Given the description of an element on the screen output the (x, y) to click on. 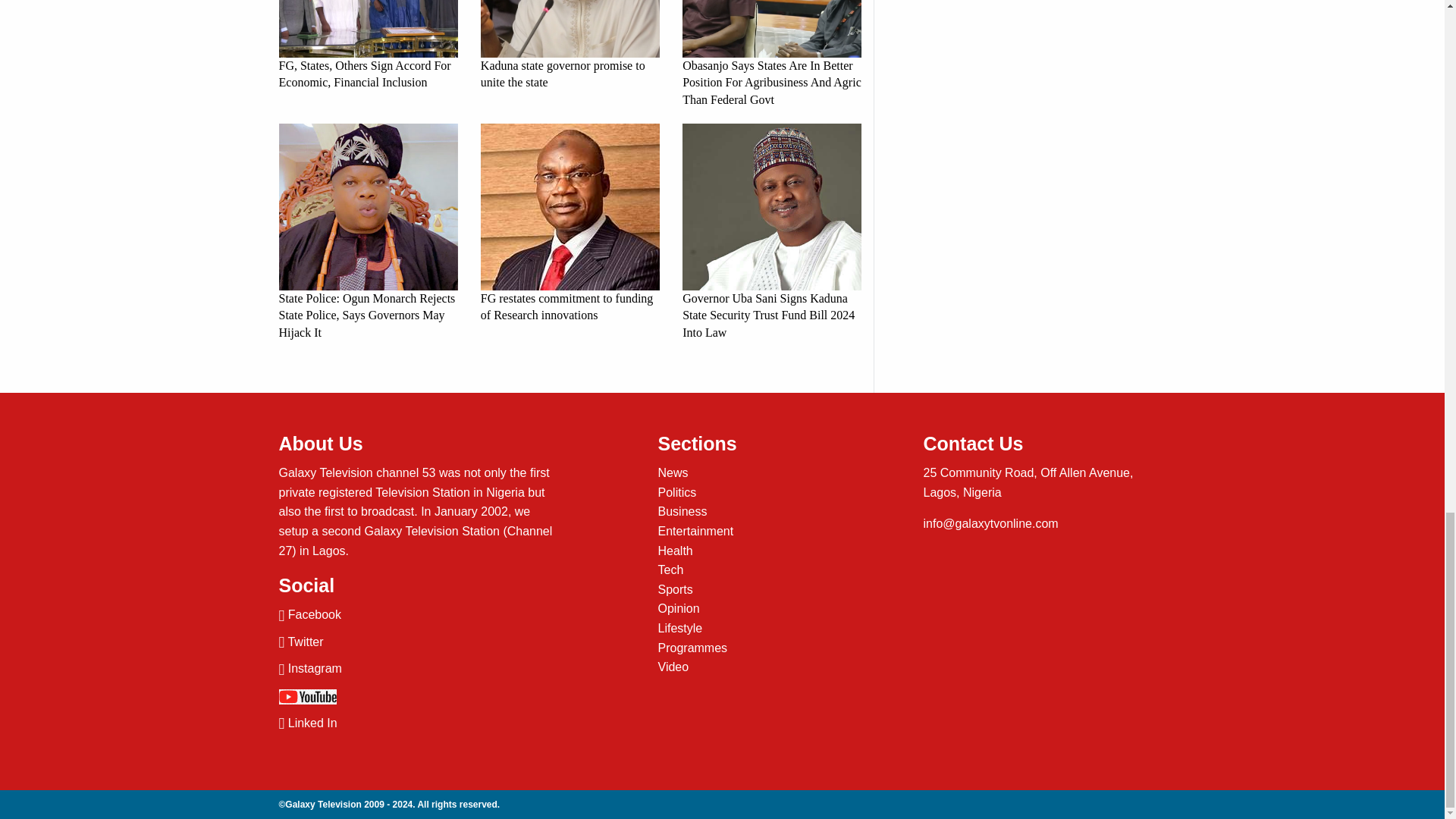
Kaduna state governor promise to unite the state (569, 45)
FG restates commitment to funding of Research innovations (569, 223)
